Given the description of an element on the screen output the (x, y) to click on. 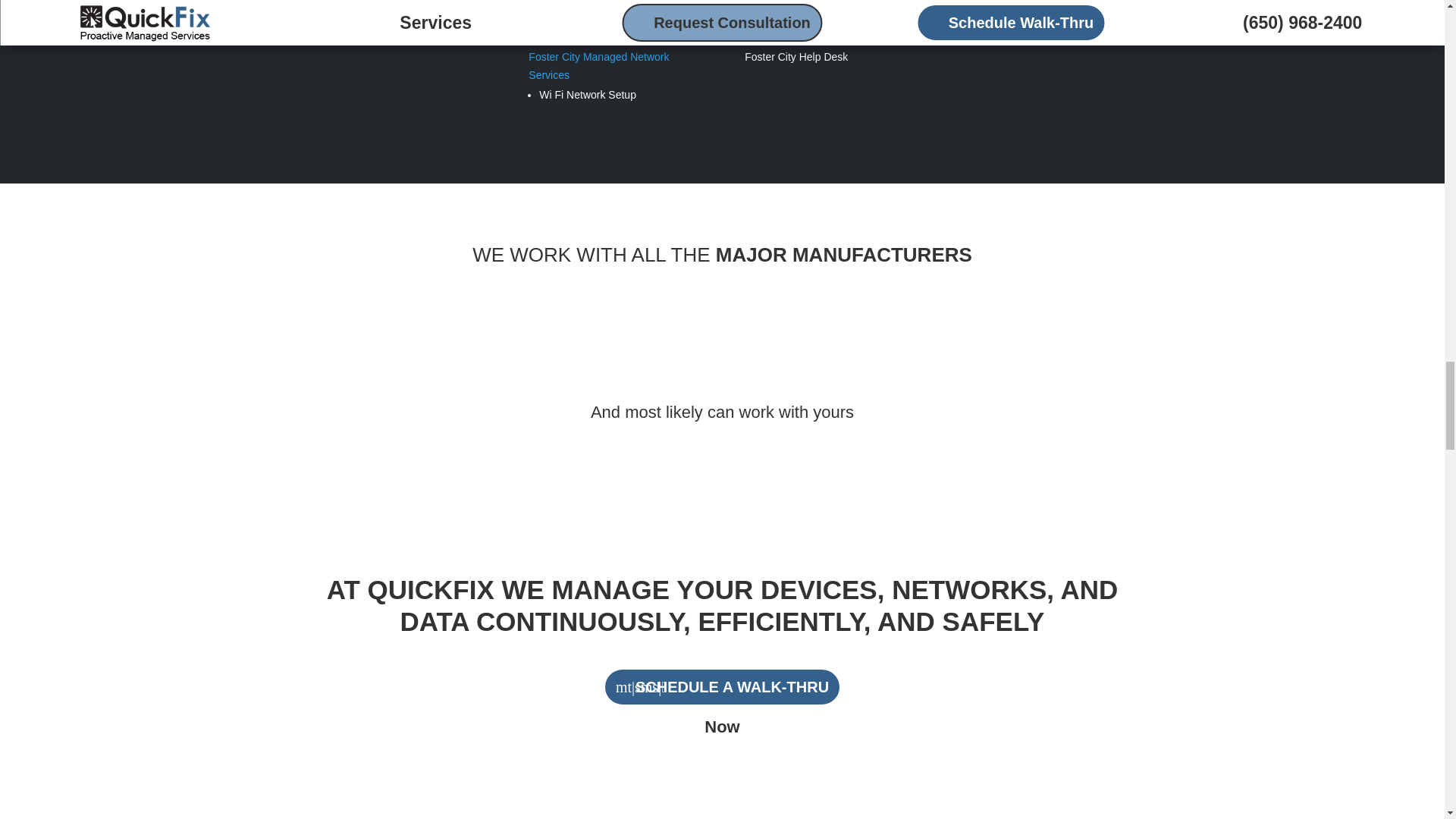
Foster City Managed Network Services (598, 65)
SCHEDULE A WALK-THRU (722, 686)
